Given the description of an element on the screen output the (x, y) to click on. 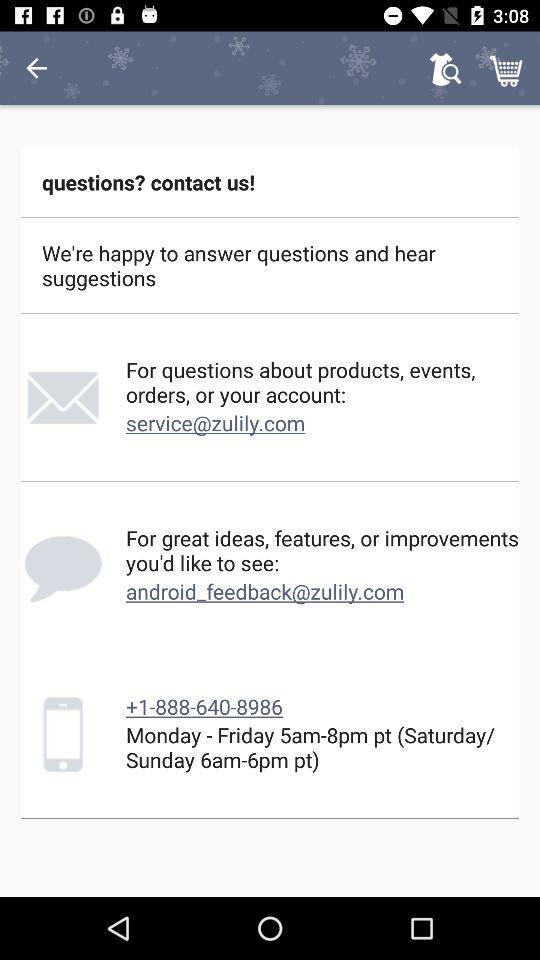
turn off the item above the monday friday 5am item (204, 706)
